Given the description of an element on the screen output the (x, y) to click on. 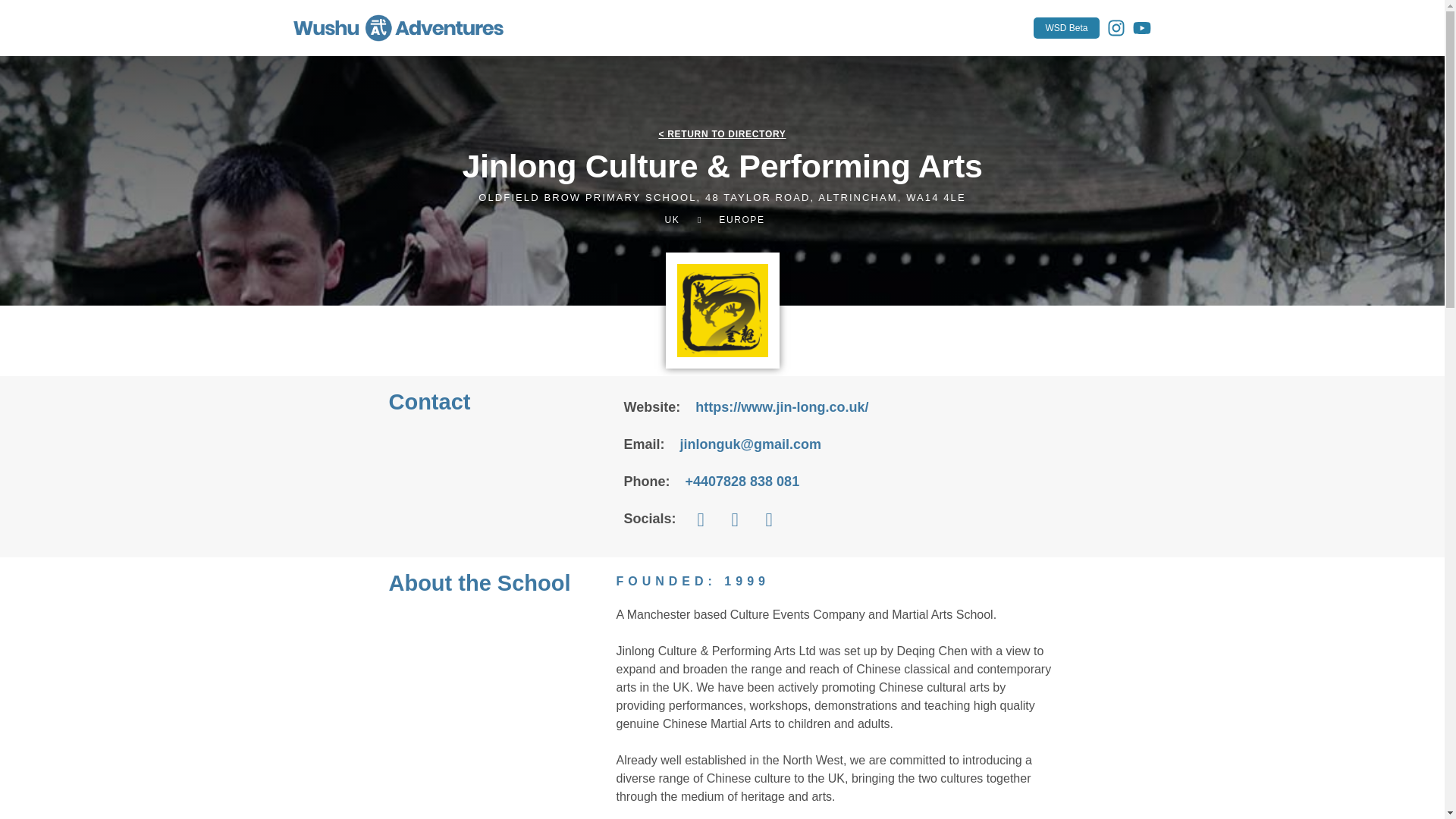
WSD Beta (1066, 27)
